Given the description of an element on the screen output the (x, y) to click on. 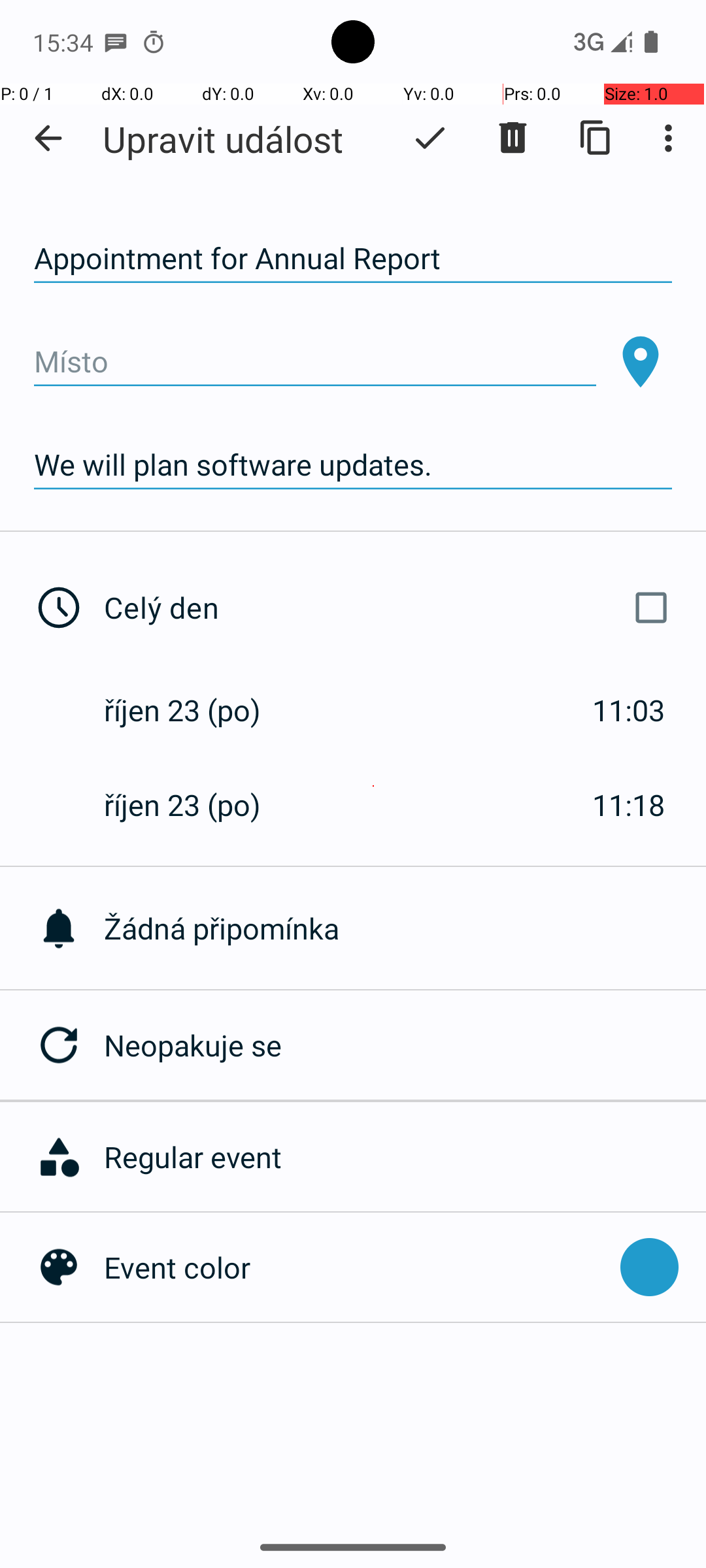
Upravit událost Element type: android.widget.TextView (222, 138)
Smazat Element type: android.widget.Button (512, 137)
Zkopírovat událost Element type: android.widget.Button (595, 137)
Místo Element type: android.widget.EditText (314, 361)
We will plan software updates. Element type: android.widget.EditText (352, 465)
říjen 23 (po) Element type: android.widget.TextView (195, 709)
11:03 Element type: android.widget.TextView (628, 709)
11:18 Element type: android.widget.TextView (628, 804)
Neopakuje se Element type: android.widget.TextView (404, 1044)
